Given the description of an element on the screen output the (x, y) to click on. 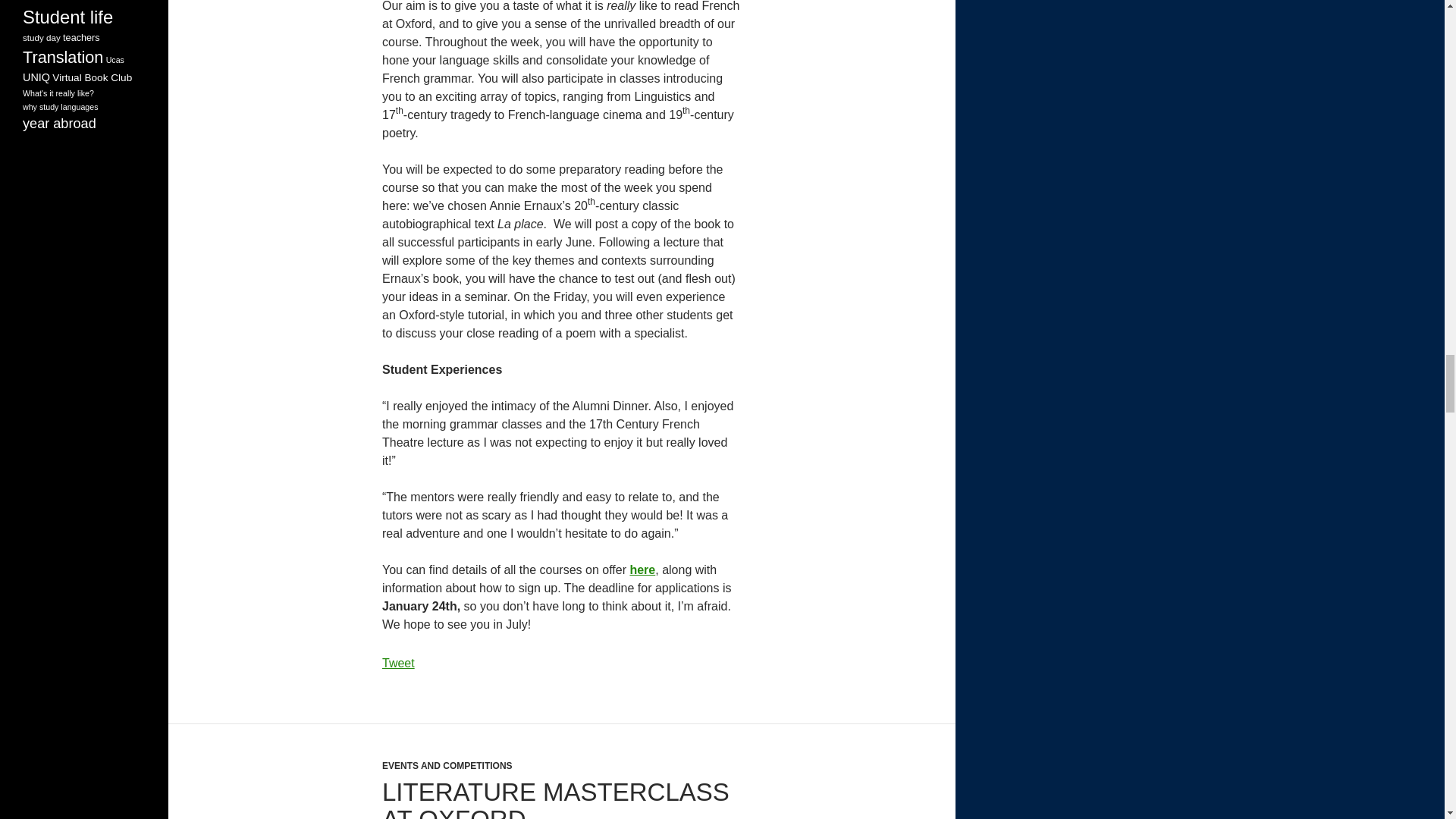
here (641, 569)
EVENTS AND COMPETITIONS (446, 765)
LITERATURE MASTERCLASS AT OXFORD (555, 798)
Tweet (397, 662)
